Given the description of an element on the screen output the (x, y) to click on. 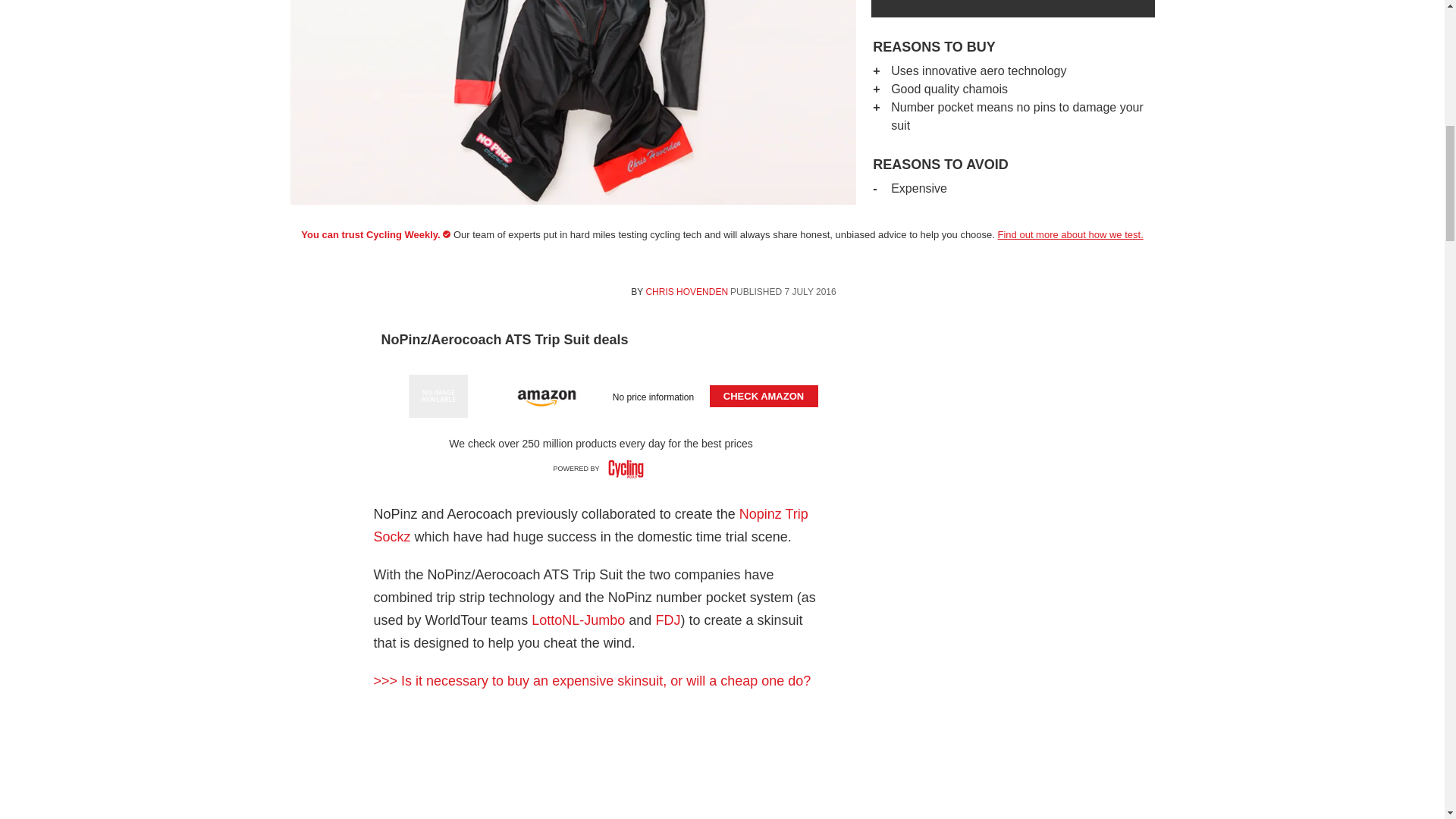
View Similar Amazon US (438, 395)
Amazon (546, 395)
Cycling Weekly (626, 468)
